Given the description of an element on the screen output the (x, y) to click on. 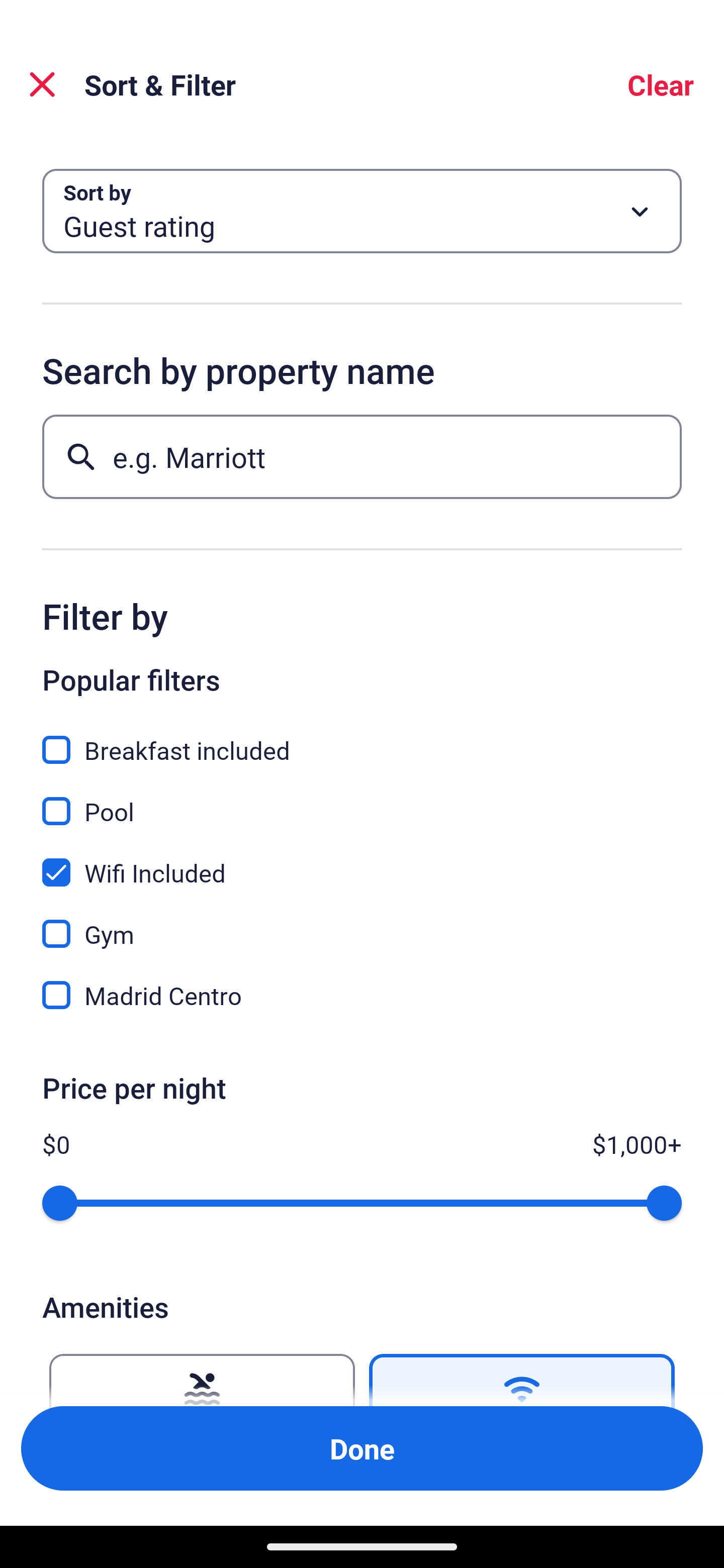
Close Sort and Filter (42, 84)
Clear (660, 84)
Sort by Button Guest rating (361, 211)
e.g. Marriott Button (361, 455)
Breakfast included, Breakfast included (361, 738)
Pool, Pool (361, 800)
Wifi Included, Wifi Included (361, 861)
Gym, Gym (361, 922)
Madrid Centro, Madrid Centro (361, 995)
Apply and close Sort and Filter Done (361, 1448)
